Given the description of an element on the screen output the (x, y) to click on. 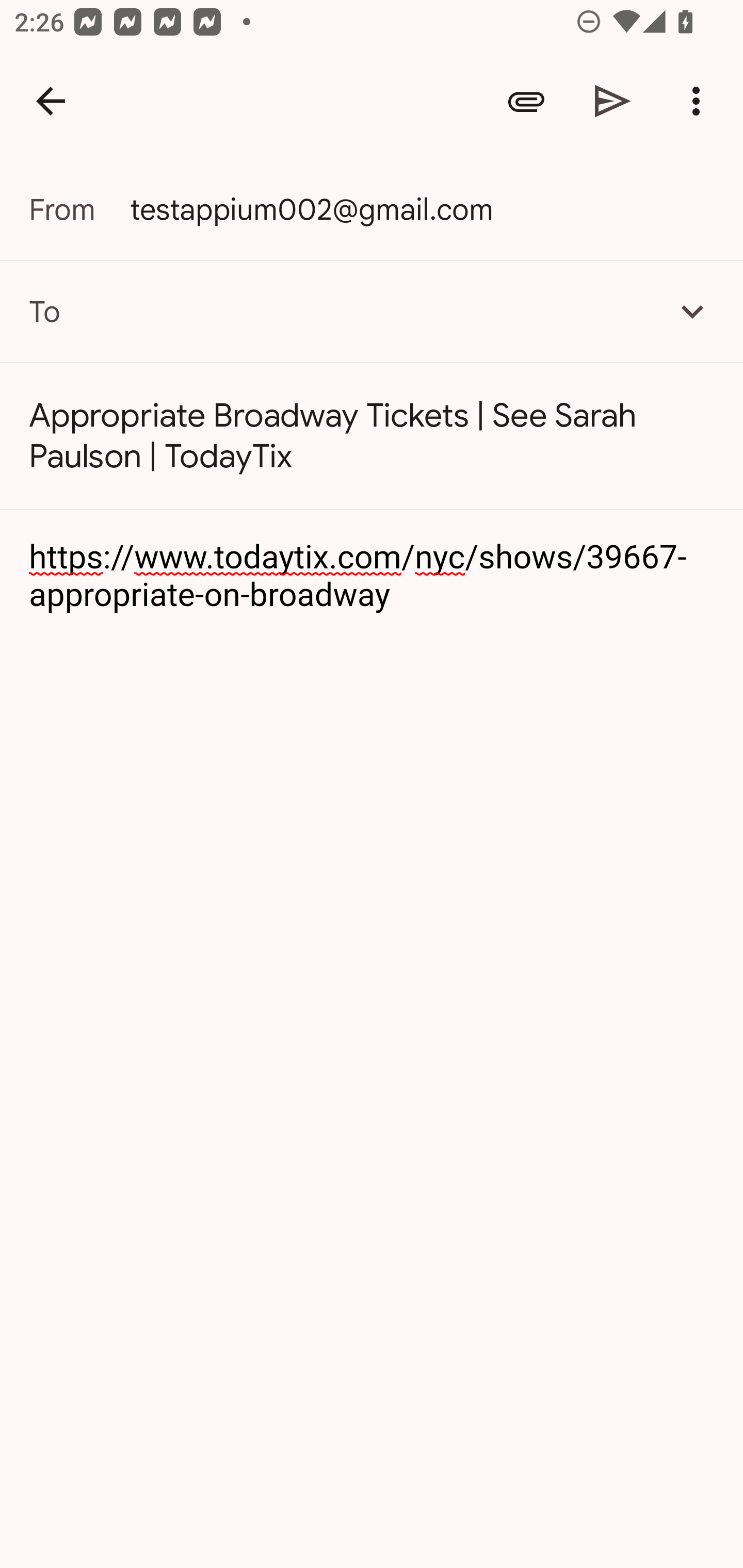
Navigate up (50, 101)
Attach file (525, 101)
Send (612, 101)
More options (699, 101)
From (79, 209)
Add Cc/Bcc (692, 311)
